Given the description of an element on the screen output the (x, y) to click on. 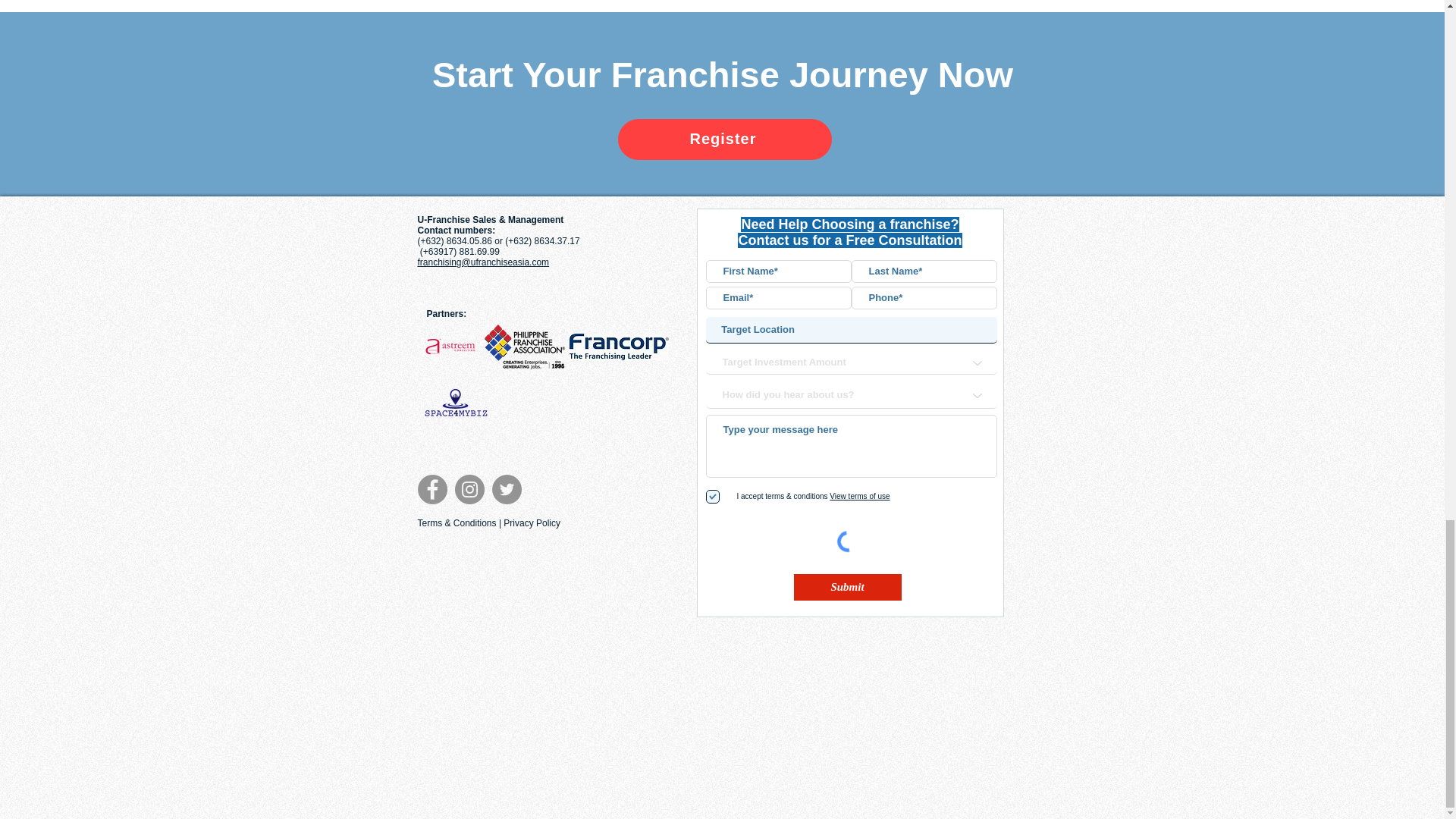
Philippine Franchise Association (524, 347)
Francorp Franchising Leader (618, 347)
Singapore Franchise Consulting  (450, 346)
